Given the description of an element on the screen output the (x, y) to click on. 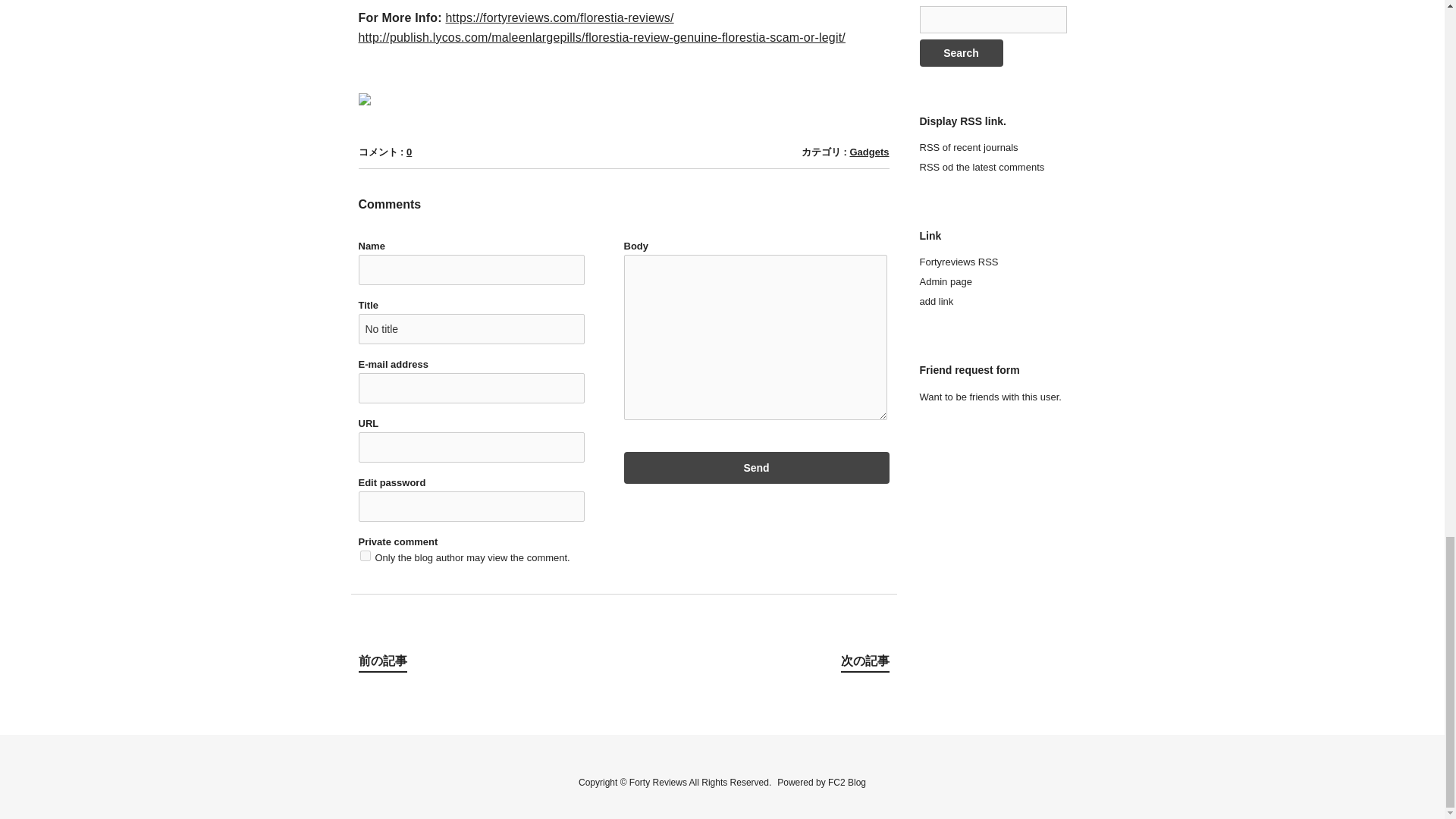
View the category list (868, 152)
Gadgets (868, 152)
on (364, 555)
 Search  (960, 52)
Send (755, 468)
Send (755, 468)
No title (470, 328)
